Given the description of an element on the screen output the (x, y) to click on. 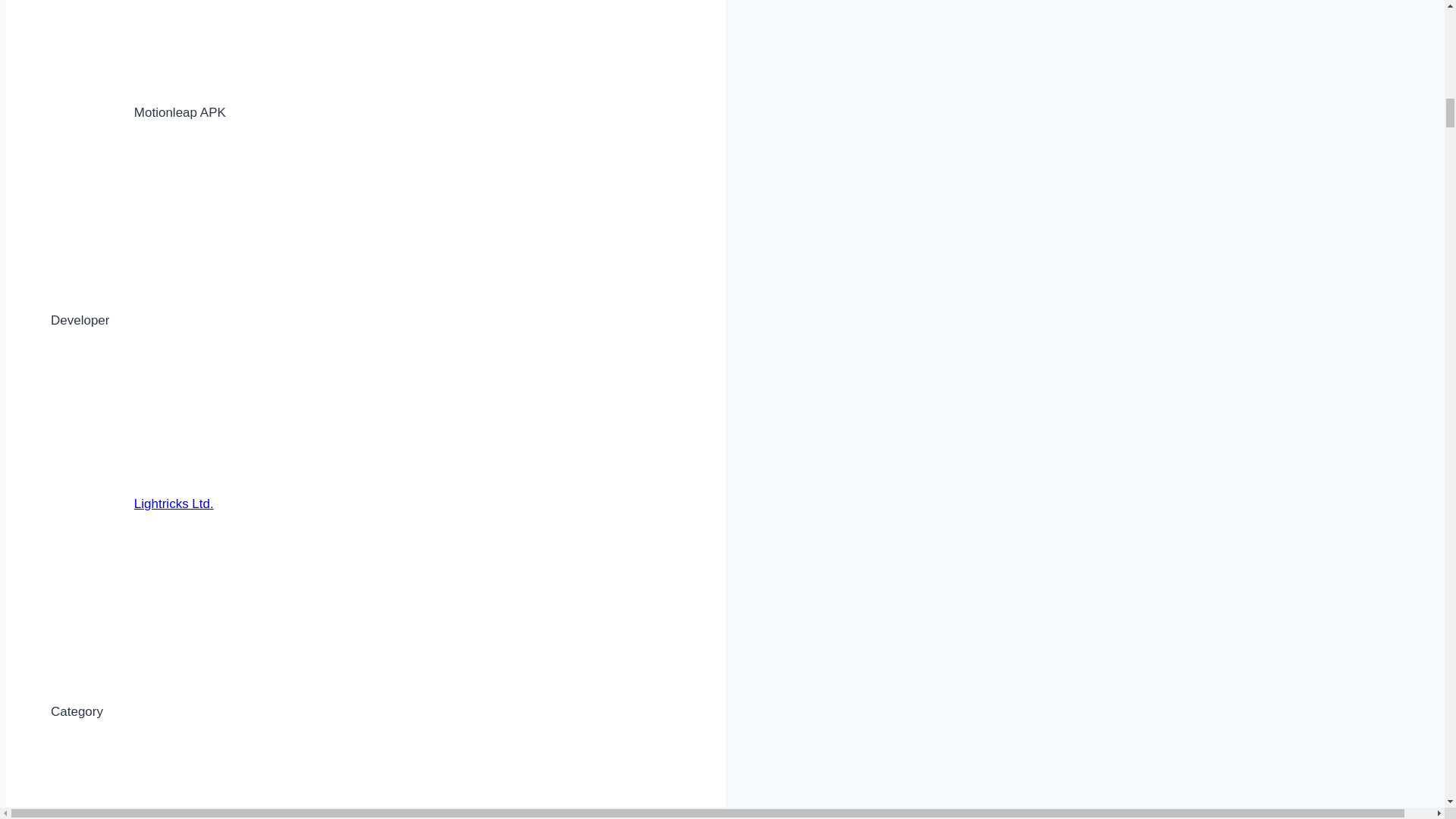
Lightricks Ltd. (173, 503)
